Given the description of an element on the screen output the (x, y) to click on. 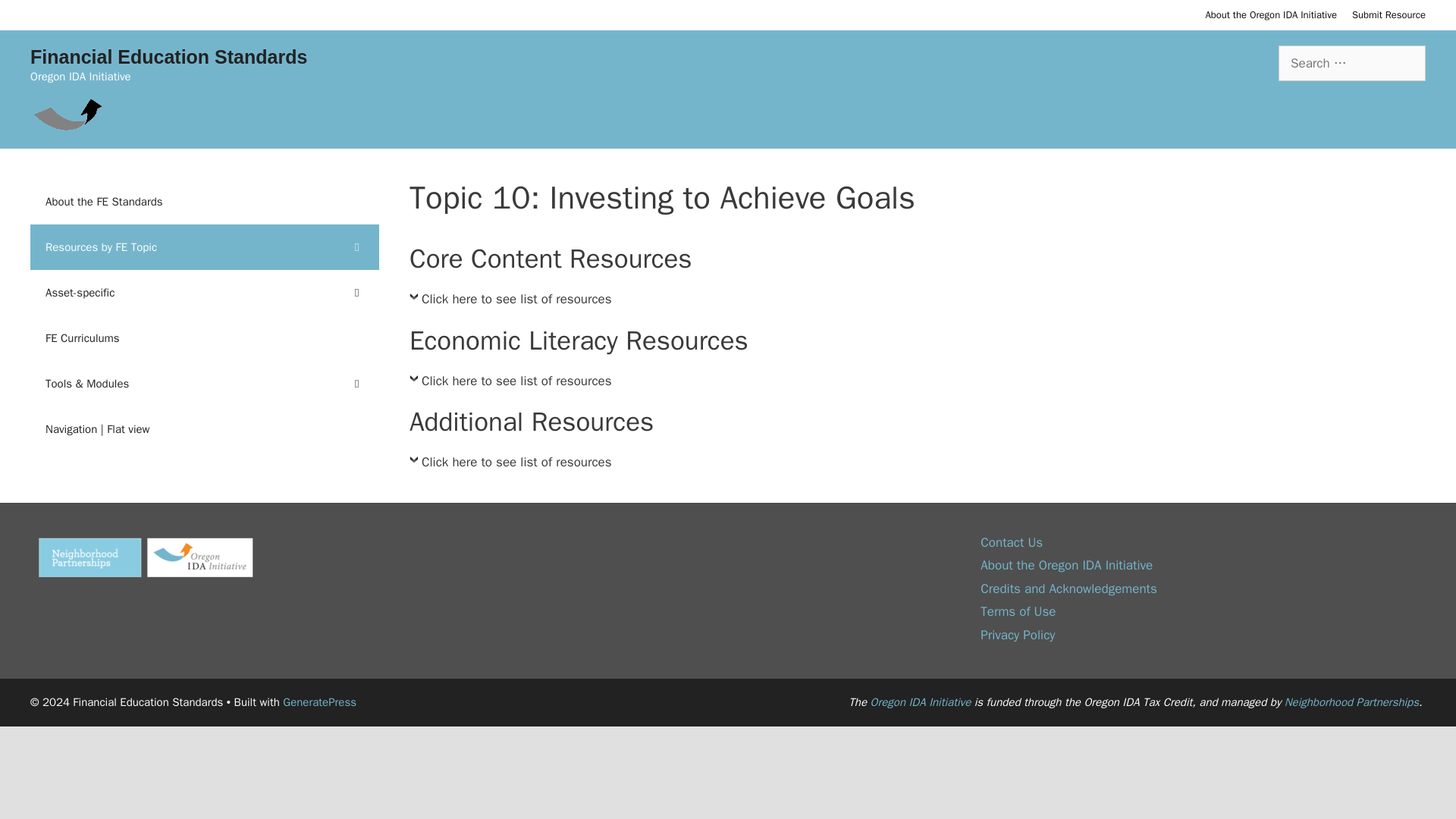
Financial Education Standards (68, 109)
Click here to see list of resources (510, 302)
Search for: (1351, 63)
Search (35, 18)
About the Oregon IDA Initiative (1270, 14)
Submit Resource (1388, 14)
Financial Education Standards (168, 55)
Financial Education Standards (68, 107)
Click here to see list of resources (510, 384)
Click here to see list of resources (510, 465)
